Given the description of an element on the screen output the (x, y) to click on. 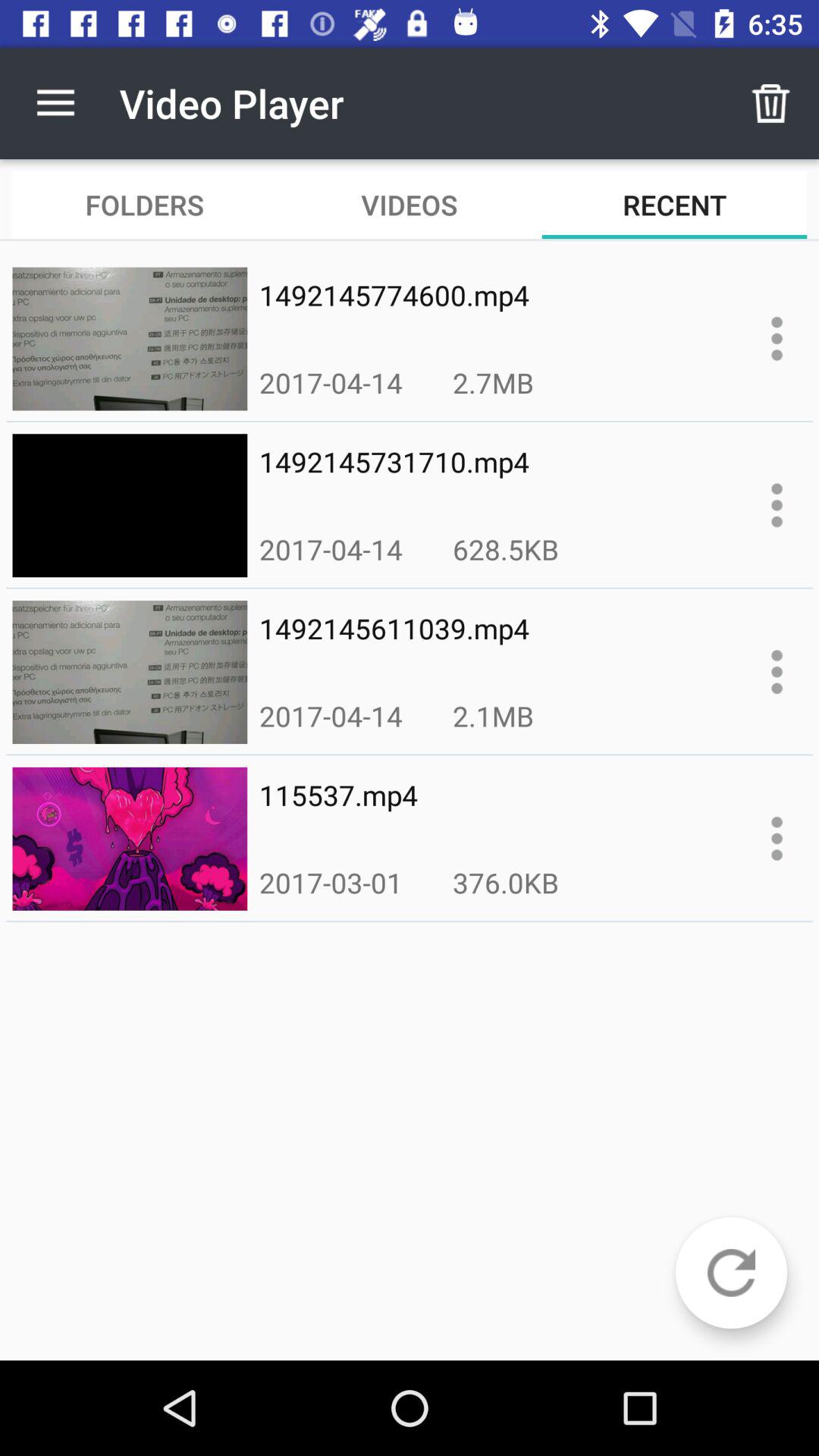
options (776, 338)
